Given the description of an element on the screen output the (x, y) to click on. 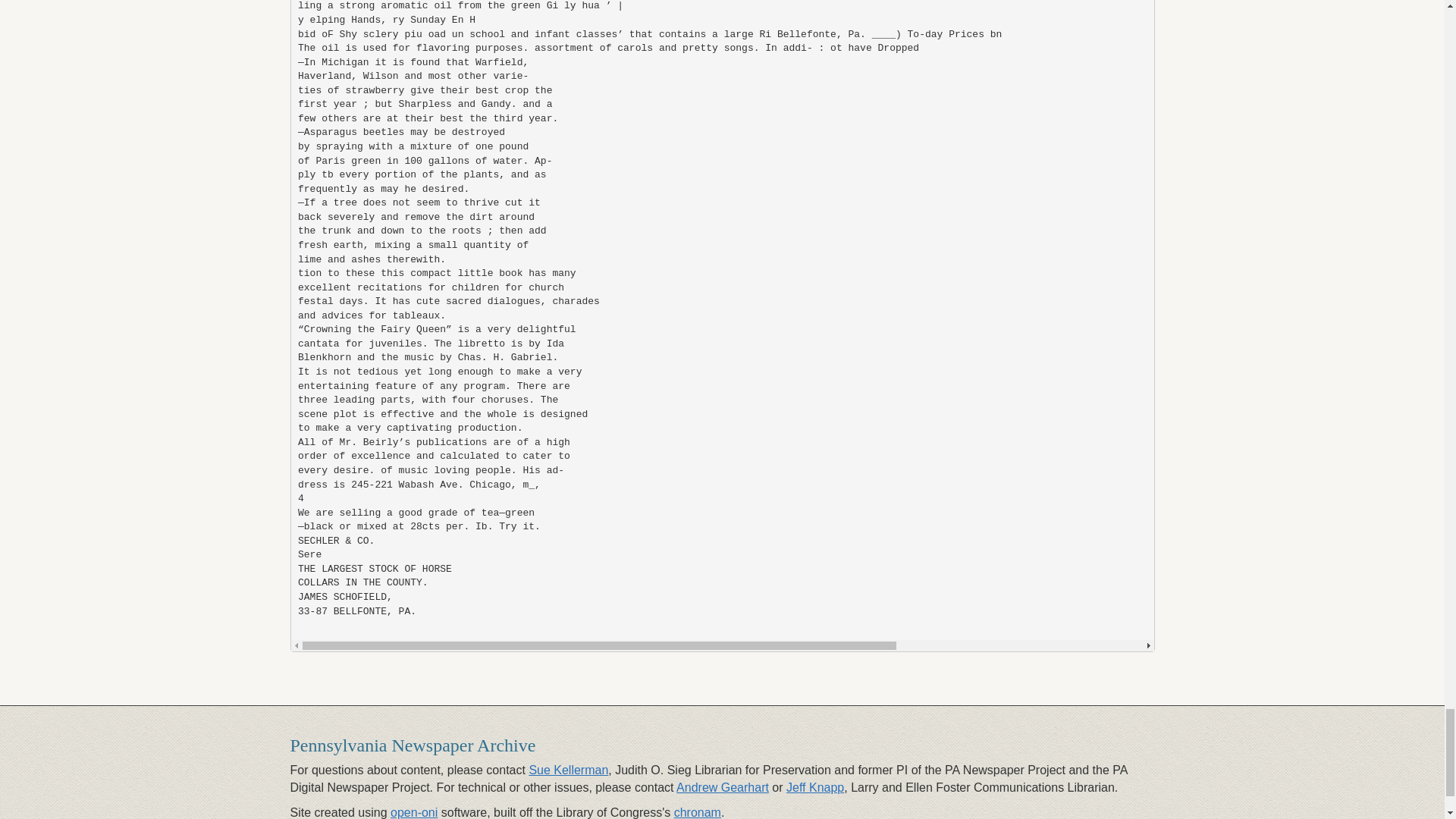
Sue Kellerman (568, 769)
chronam (697, 812)
open-oni (414, 812)
Jeff Knapp (815, 787)
Andrew Gearhart (722, 787)
